Given the description of an element on the screen output the (x, y) to click on. 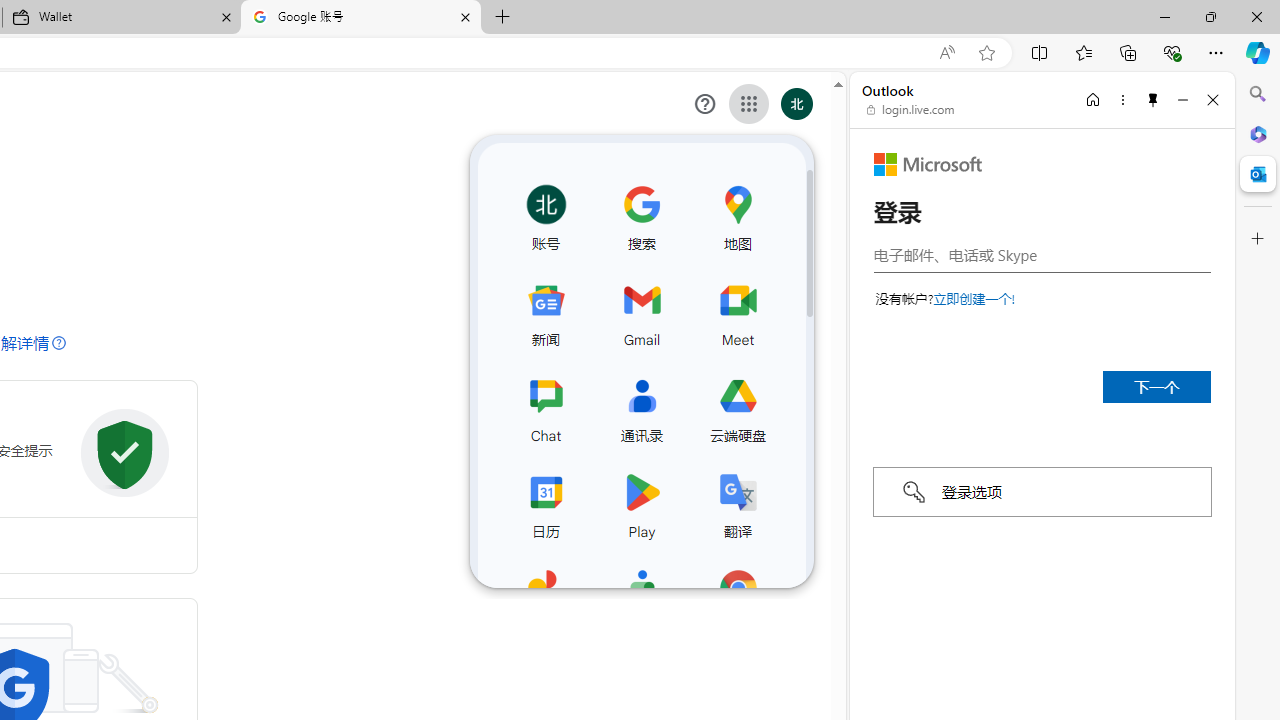
Meet (737, 310)
